Given the description of an element on the screen output the (x, y) to click on. 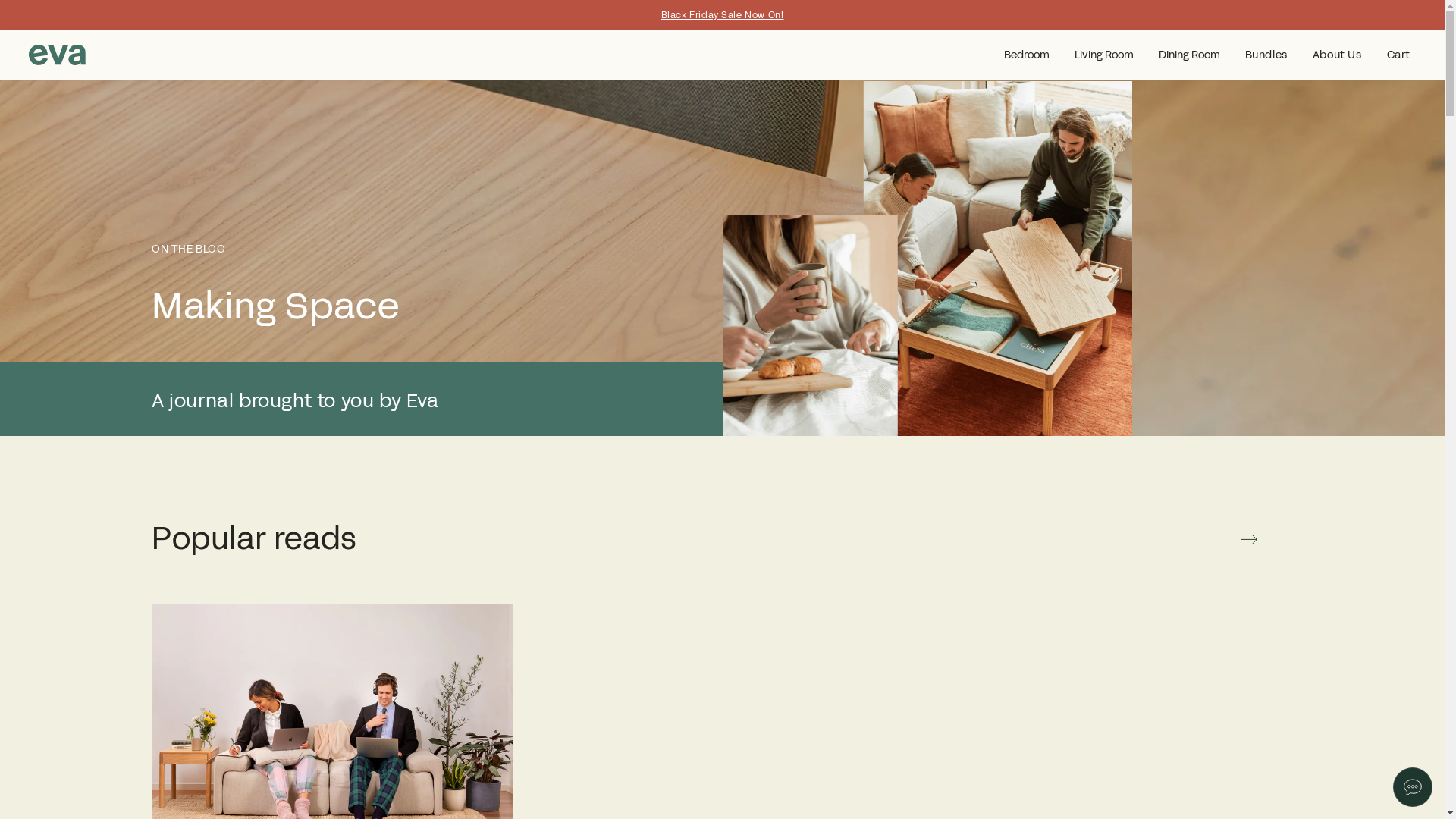
Living Room Element type: text (1103, 55)
Cart Element type: text (1398, 55)
About Us Element type: text (1336, 55)
Bundles Element type: text (1266, 55)
Black Friday Sale Now On! Element type: text (722, 15)
Bedroom Element type: text (1026, 55)
Dining Room Element type: text (1189, 55)
